Given the description of an element on the screen output the (x, y) to click on. 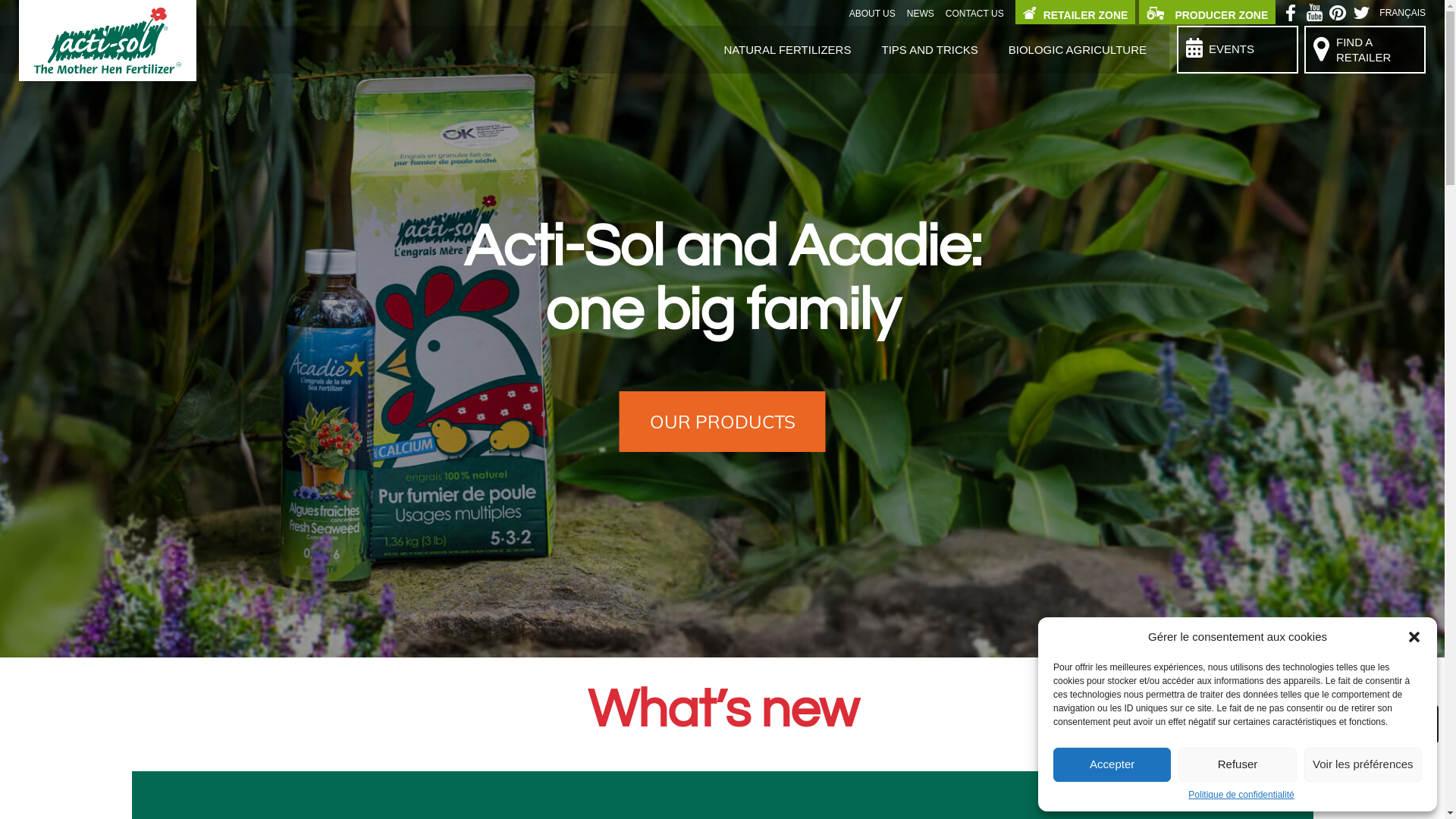
OUR PRODUCTS Element type: text (721, 421)
YOUTUBE @EN Element type: text (1316, 15)
PINTEREST @EN Element type: text (1340, 15)
EVENTS Element type: text (1238, 46)
TWITTER @EN Element type: text (1364, 15)
RETAILER ZONE Element type: text (1075, 12)
CONTACT US Element type: text (974, 13)
BIOLOGIC AGRICULTURE Element type: text (1077, 49)
NEWS Element type: text (920, 13)
TIPS AND TRICKS Element type: text (929, 49)
Accepter Element type: text (1111, 764)
ABOUT US Element type: text (872, 13)
Refuser Element type: text (1236, 764)
PRODUCER ZONE Element type: text (1207, 12)
NATURAL FERTILIZERS Element type: text (786, 49)
FACEBOOK @EN Element type: text (1291, 15)
FIND A RETAILER Element type: text (1366, 44)
